Given the description of an element on the screen output the (x, y) to click on. 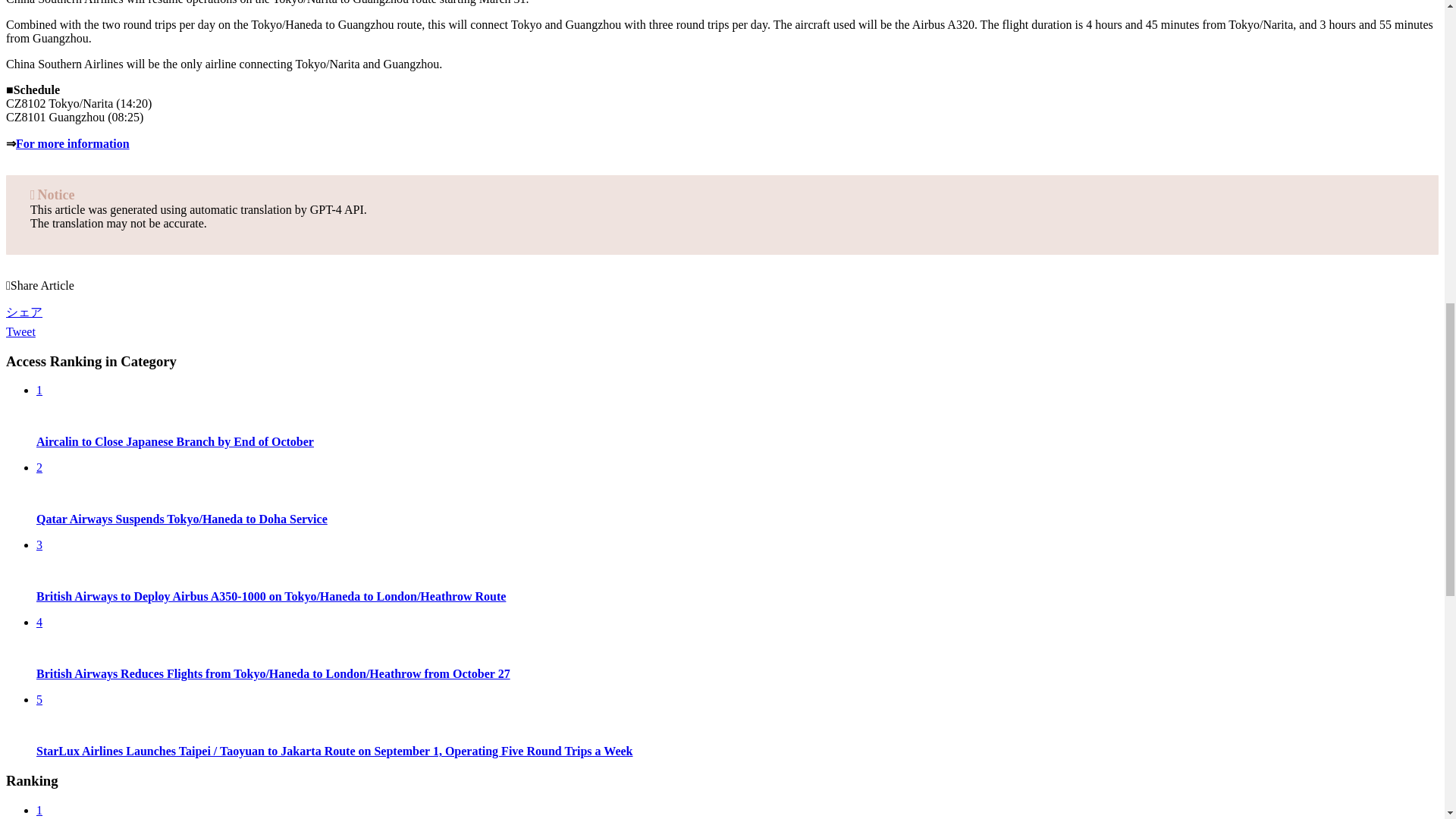
Tweet (19, 331)
For more information (72, 143)
